Given the description of an element on the screen output the (x, y) to click on. 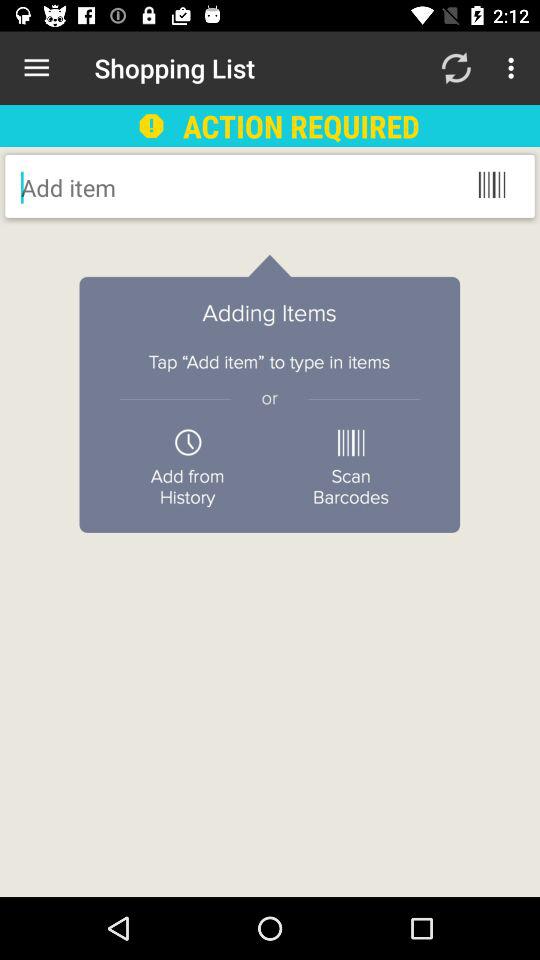
choose the item above the action required icon (455, 67)
